Given the description of an element on the screen output the (x, y) to click on. 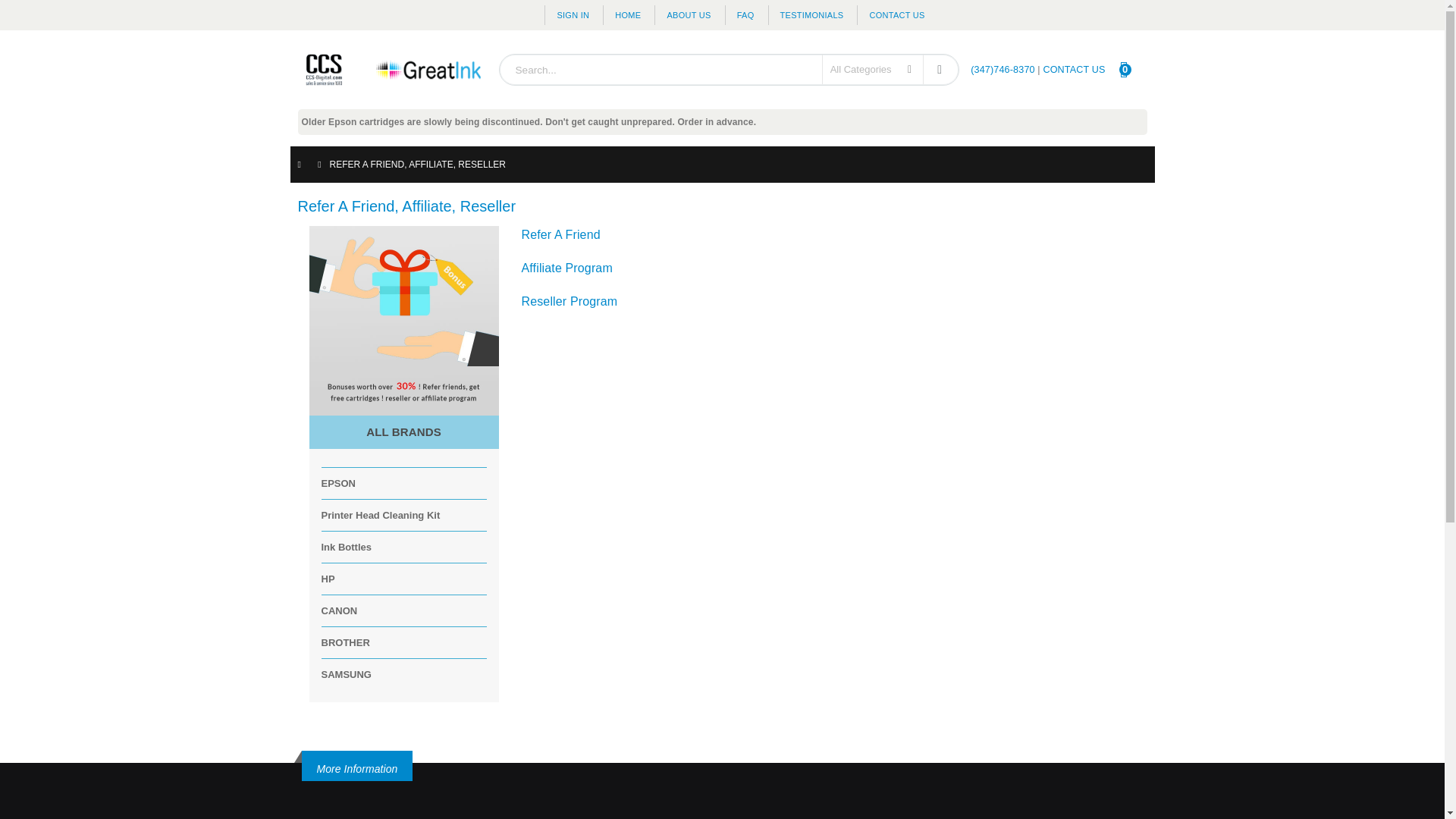
CCS-Digital.com (391, 69)
Reseller Program (569, 300)
BROTHER (345, 642)
HOME (627, 14)
HP (327, 578)
TESTIMONIALS (812, 14)
ABOUT US (687, 14)
Search (1130, 69)
CONTACT US (938, 69)
